Given the description of an element on the screen output the (x, y) to click on. 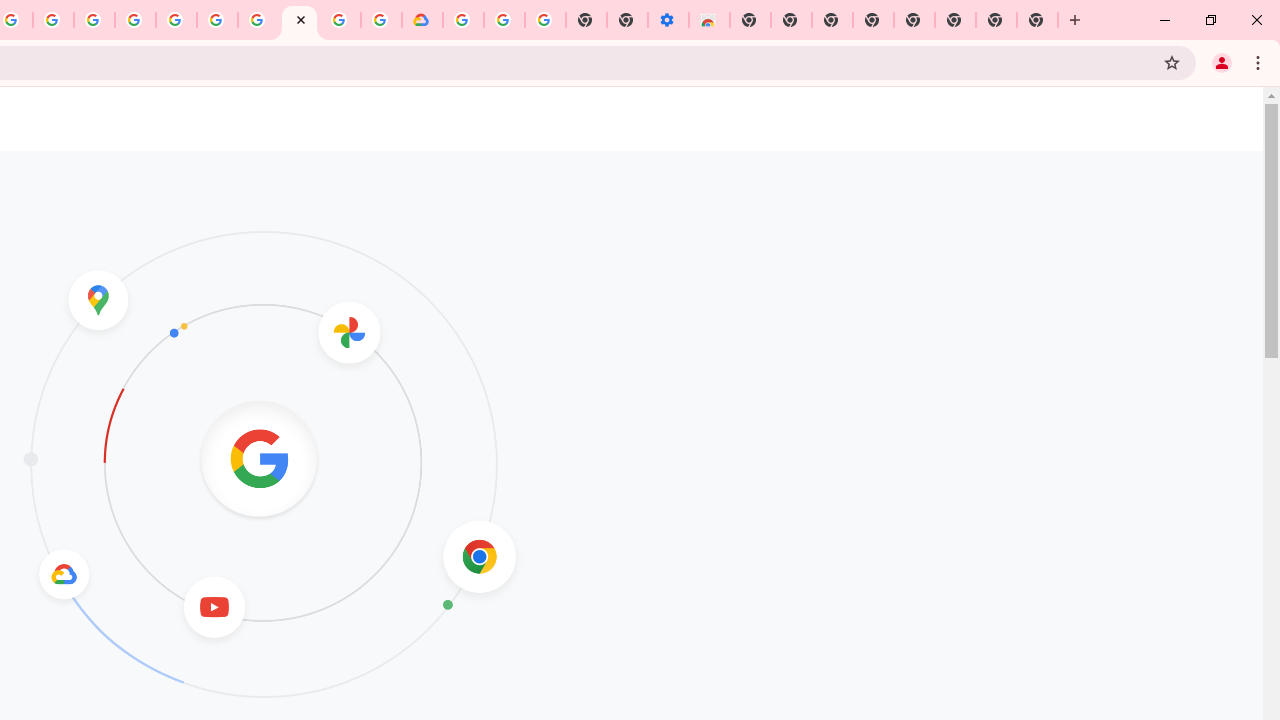
Settings - Accessibility (667, 20)
New Tab (1075, 20)
Ad Settings (135, 20)
Create your Google Account (340, 20)
New Tab (749, 20)
Google Account Help (503, 20)
Turn cookies on or off - Computer - Google Account Help (544, 20)
Restore (1210, 20)
Google Account Help (258, 20)
